Given the description of an element on the screen output the (x, y) to click on. 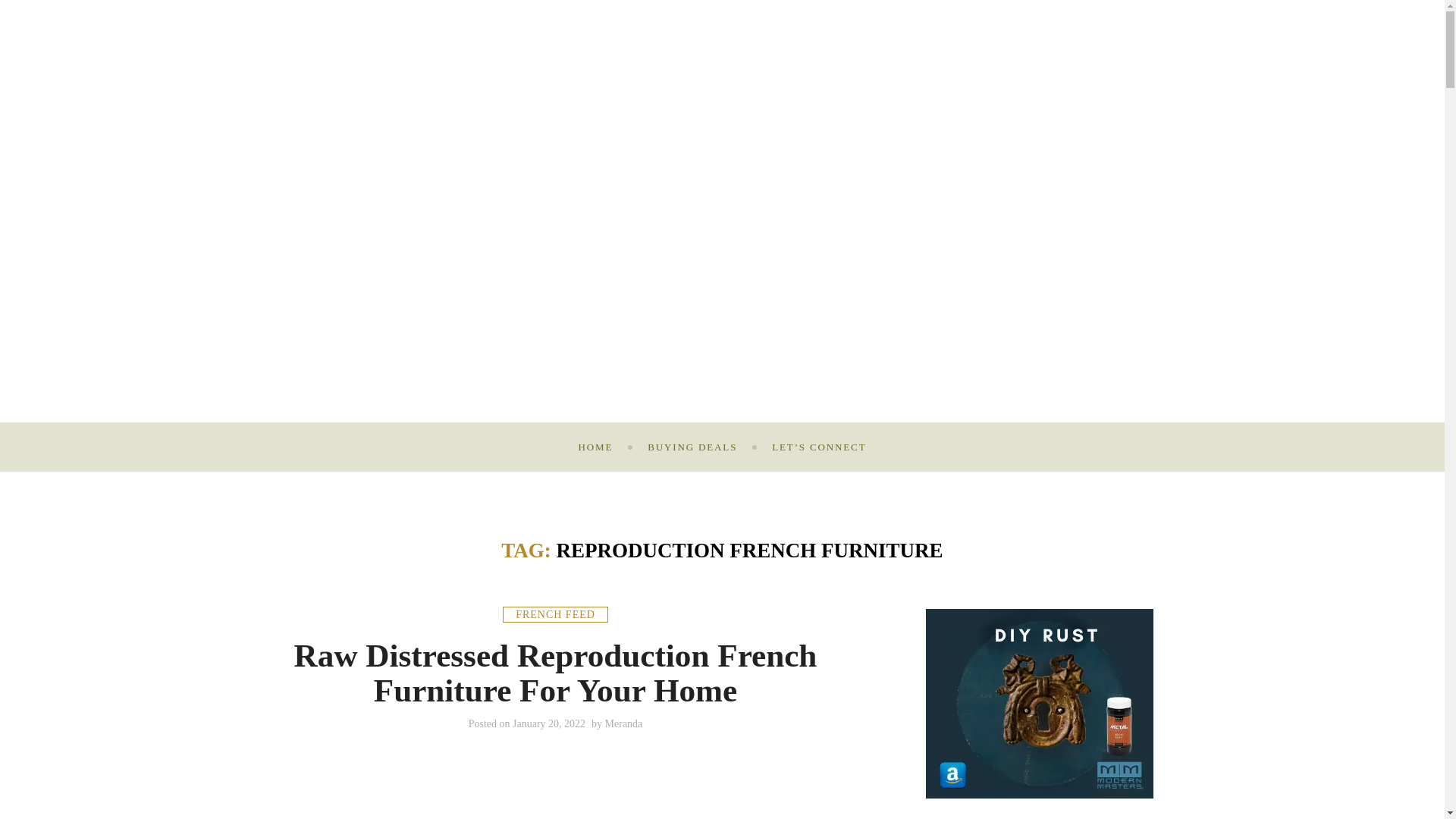
HOME (595, 447)
January 20, 2022 (548, 723)
January 20, 2022January 20, 2022 (548, 723)
French FEED (555, 614)
Raw Distressed Reproduction French Furniture For Your Home (555, 673)
BUYING DEALS (691, 447)
BUYING DEALS (691, 447)
Raw Distressed Reproduction French Furniture For Your Home (555, 673)
FRENCH FEED (555, 614)
HOME (595, 447)
Meranda (624, 723)
